Given the description of an element on the screen output the (x, y) to click on. 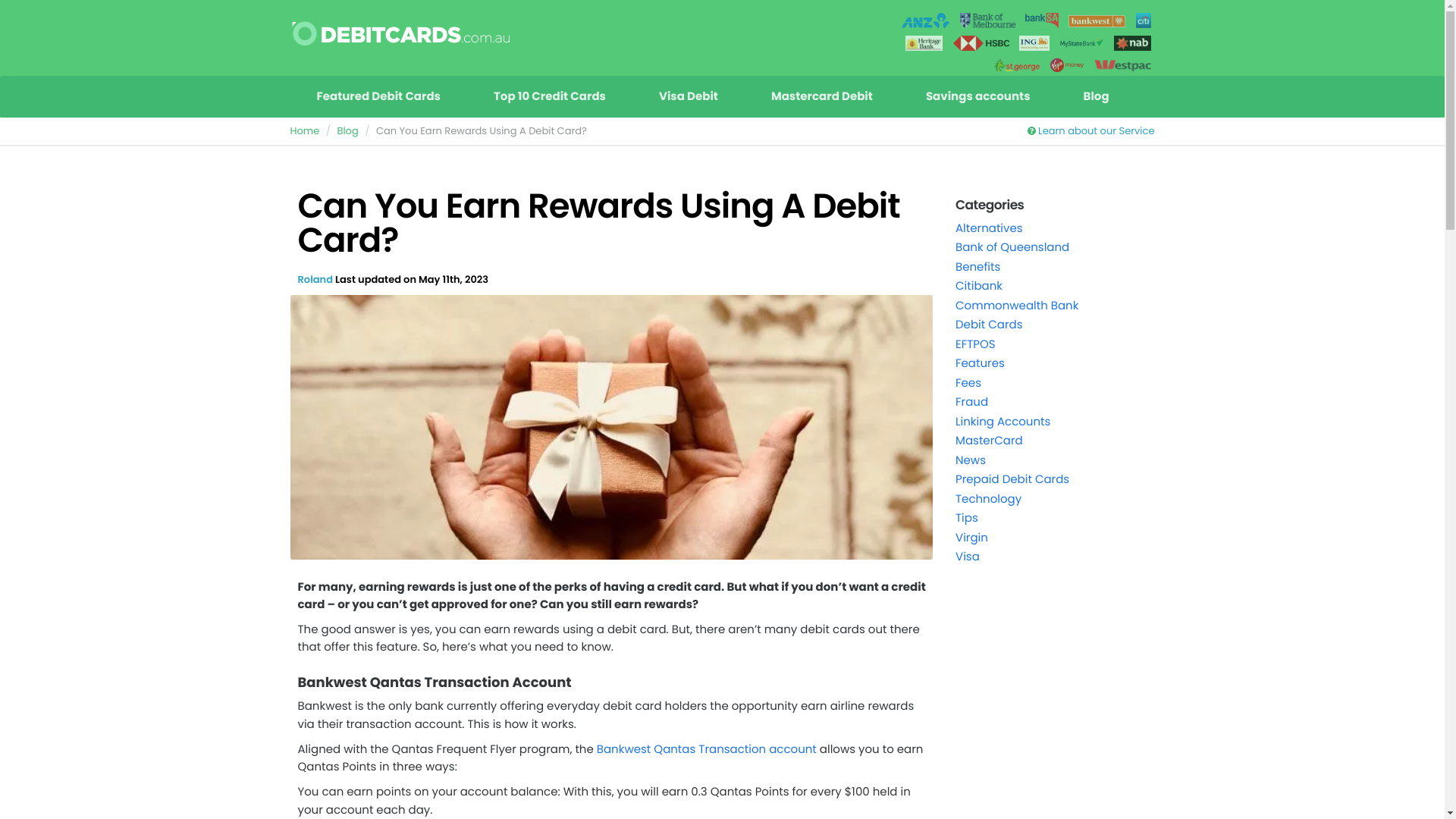
Bank of Queensland Element type: text (1012, 247)
Technology Element type: text (988, 499)
Home Element type: text (304, 130)
EFTPOS Element type: text (975, 344)
Tips Element type: text (966, 518)
Prepaid Debit Cards Element type: text (1012, 479)
Linking Accounts Element type: text (1002, 421)
Bankwest Qantas Transaction account Element type: text (704, 749)
Debitcards Element type: text (399, 37)
Virgin Element type: text (971, 538)
Commonwealth Bank Element type: text (1016, 305)
Alternatives Element type: text (988, 228)
Featured Debit Cards Element type: text (377, 96)
News Element type: text (970, 460)
Citibank Element type: text (978, 286)
Roland Element type: text (314, 279)
Fraud Element type: text (971, 402)
MasterCard Element type: text (988, 440)
Visa Element type: text (967, 556)
Top 10 Credit Cards Element type: text (549, 96)
Benefits Element type: text (977, 267)
Savings accounts Element type: text (978, 96)
Blog Element type: text (1096, 96)
Visa Debit Element type: text (688, 96)
Features Element type: text (979, 363)
Blog Element type: text (346, 130)
Mastercard Debit Element type: text (821, 96)
Debit Cards Element type: text (988, 324)
Fees Element type: text (968, 383)
